Given the description of an element on the screen output the (x, y) to click on. 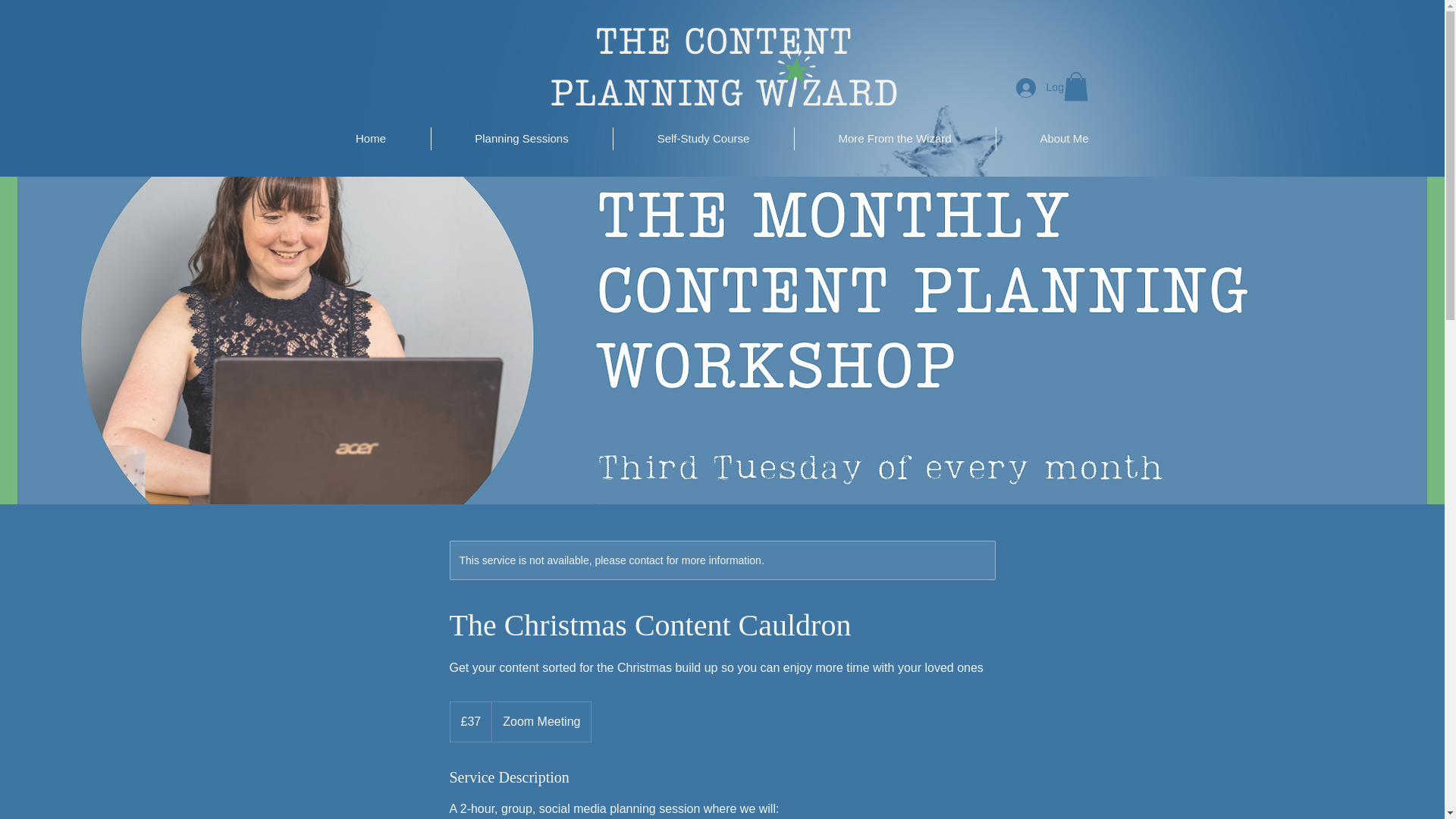
Self-Study Course (702, 138)
Home (370, 138)
Planning Sessions (520, 138)
About Me (1063, 138)
More From the Wizard (894, 138)
Log In (1046, 86)
